Given the description of an element on the screen output the (x, y) to click on. 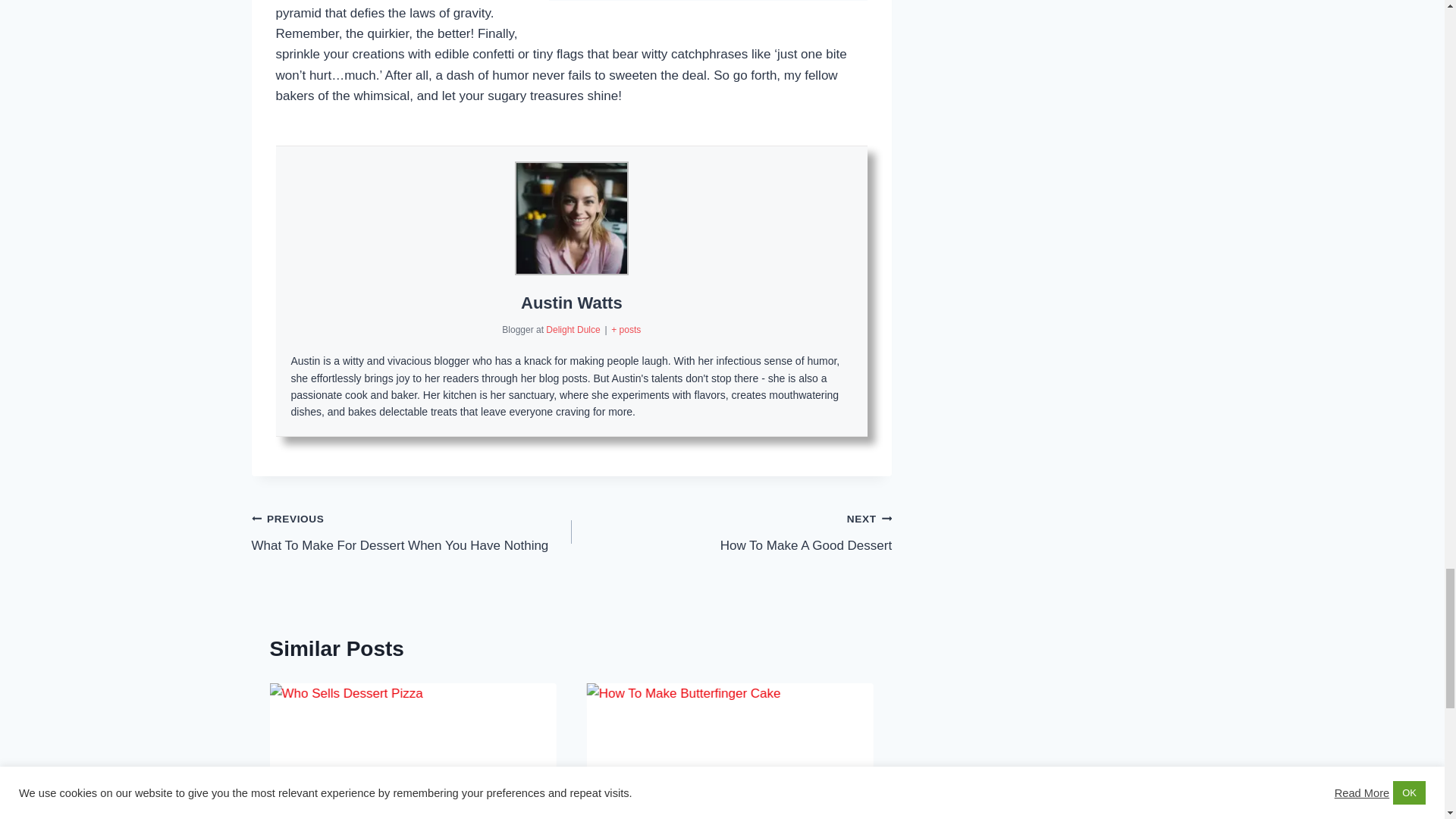
Austin Watts (572, 302)
Delight Dulce (574, 329)
